Given the description of an element on the screen output the (x, y) to click on. 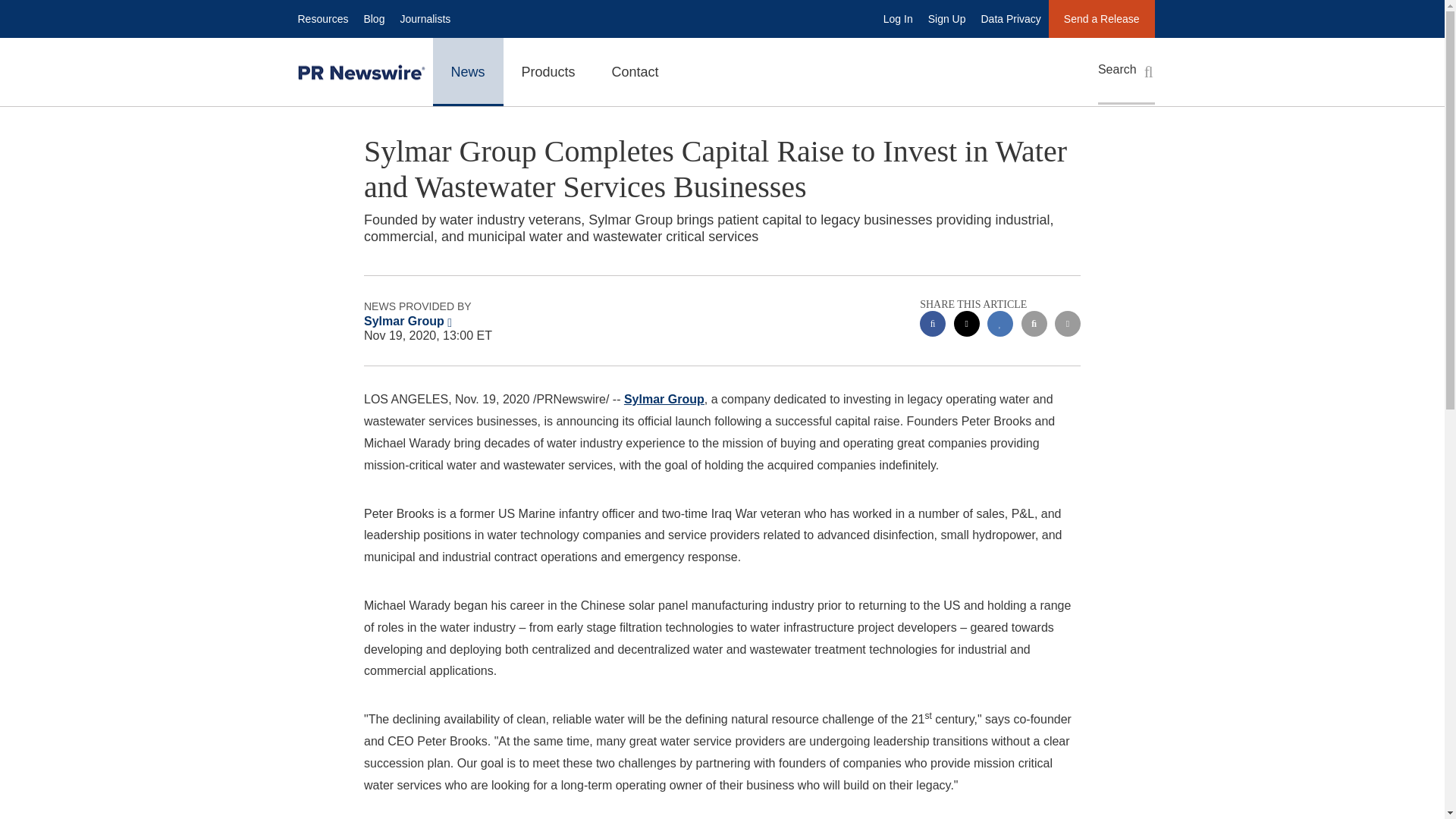
News (467, 71)
Data Privacy (1011, 18)
Resources (322, 18)
Contact (635, 71)
Journalists (424, 18)
Blog (373, 18)
Sign Up (947, 18)
Send a Release (1101, 18)
Products (548, 71)
Log In (898, 18)
